Given the description of an element on the screen output the (x, y) to click on. 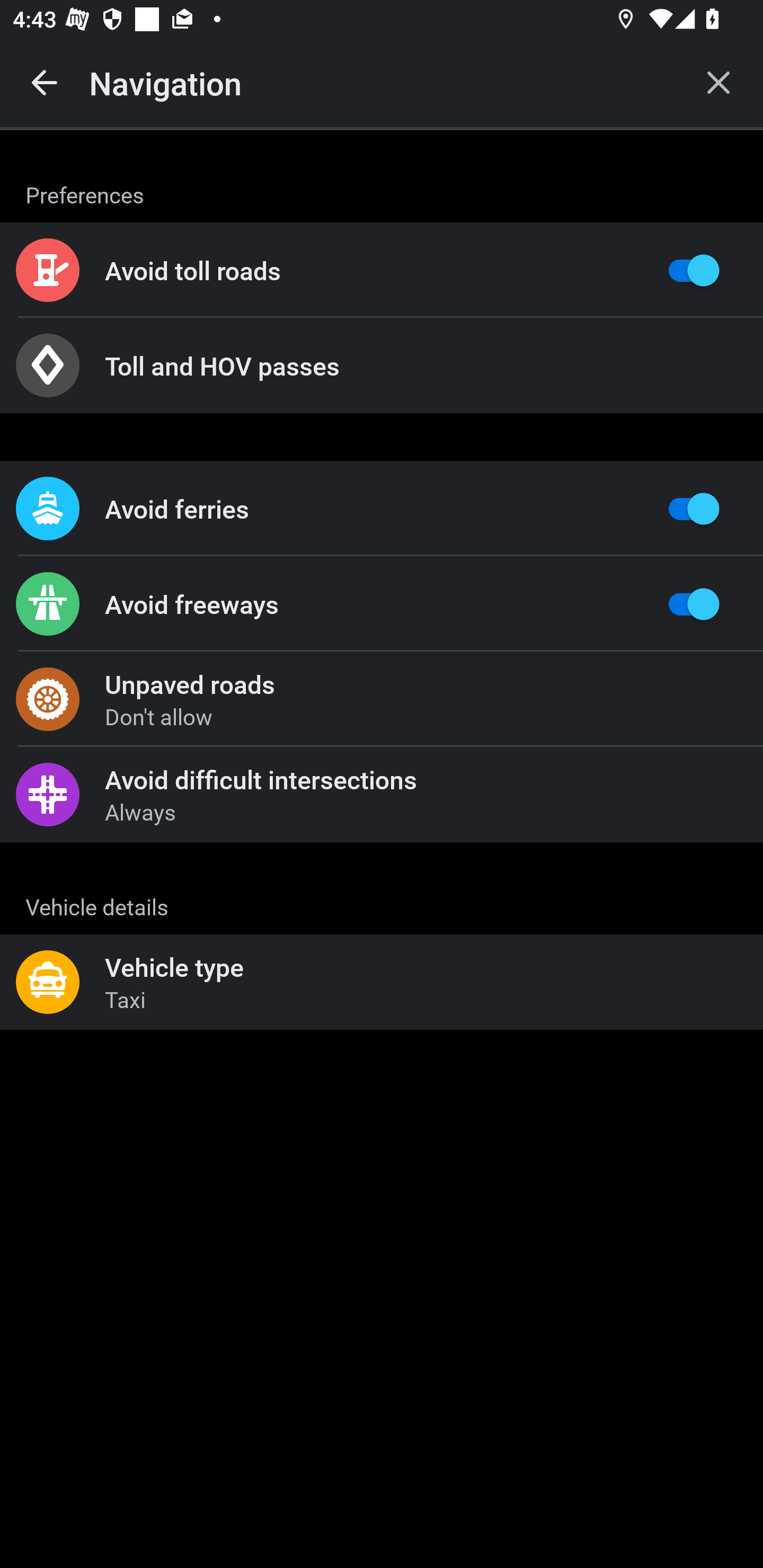
Avoid toll roads (381, 270)
Toll and HOV passes (381, 365)
Avoid ferries (381, 508)
Avoid freeways (381, 604)
Unpaved roads Don't allow (381, 699)
Avoid difficult intersections Always (381, 794)
ACTION_CELL_ICON Shut off ACTION_CELL_TEXT (381, 891)
Vehicle type Taxi (381, 982)
